Given the description of an element on the screen output the (x, y) to click on. 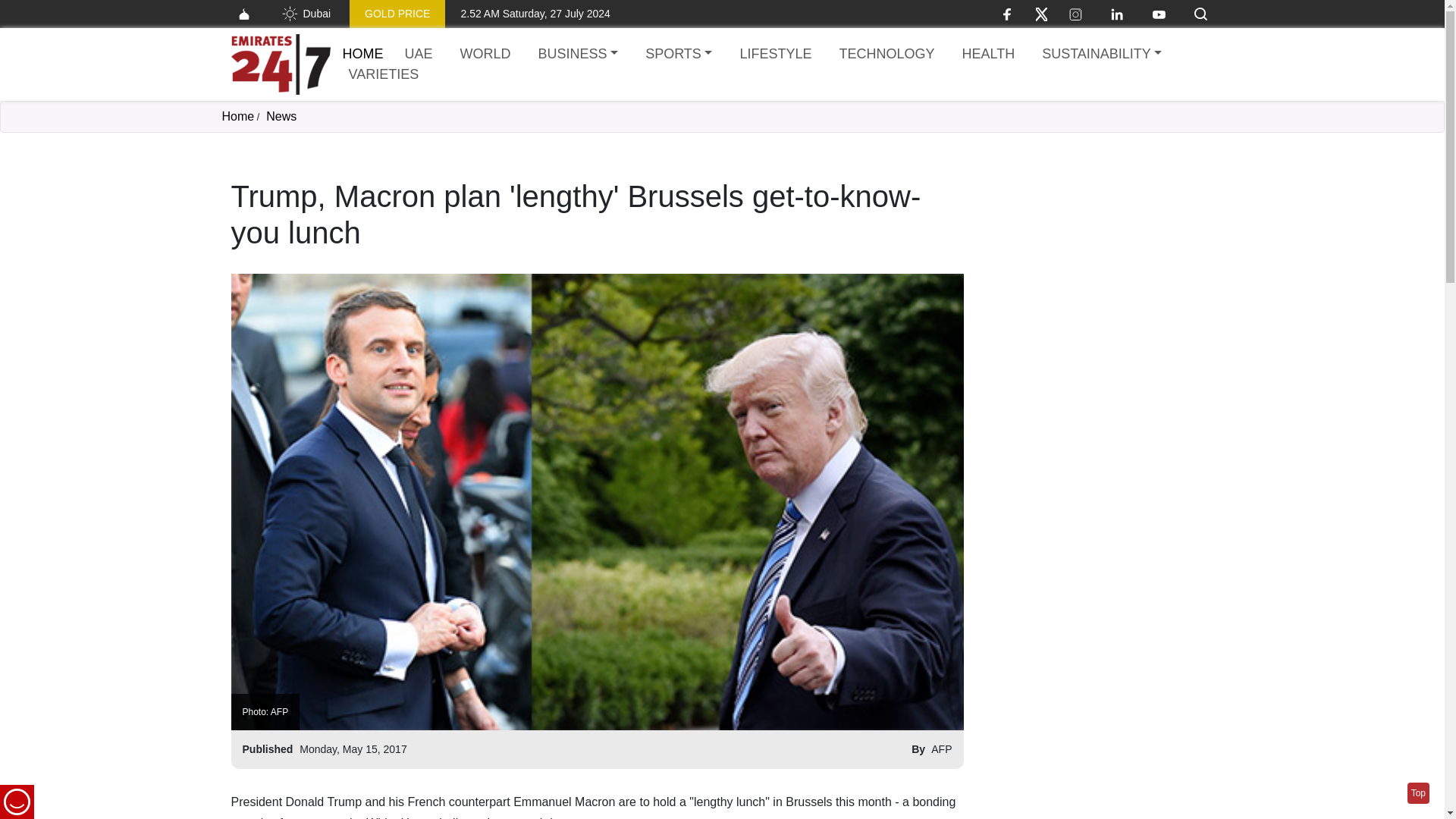
News (281, 115)
SPORTS (678, 54)
TECHNOLOGY (886, 54)
SUSTAINABILITY (1101, 54)
Go to top (1418, 792)
Home (237, 115)
Home (280, 64)
LIFESTYLE (774, 54)
HOME (363, 53)
BUSINESS (578, 54)
VARIETIES (383, 74)
HEALTH (987, 54)
Dubai (305, 13)
WORLD (485, 54)
GOLD PRICE (397, 13)
